Given the description of an element on the screen output the (x, y) to click on. 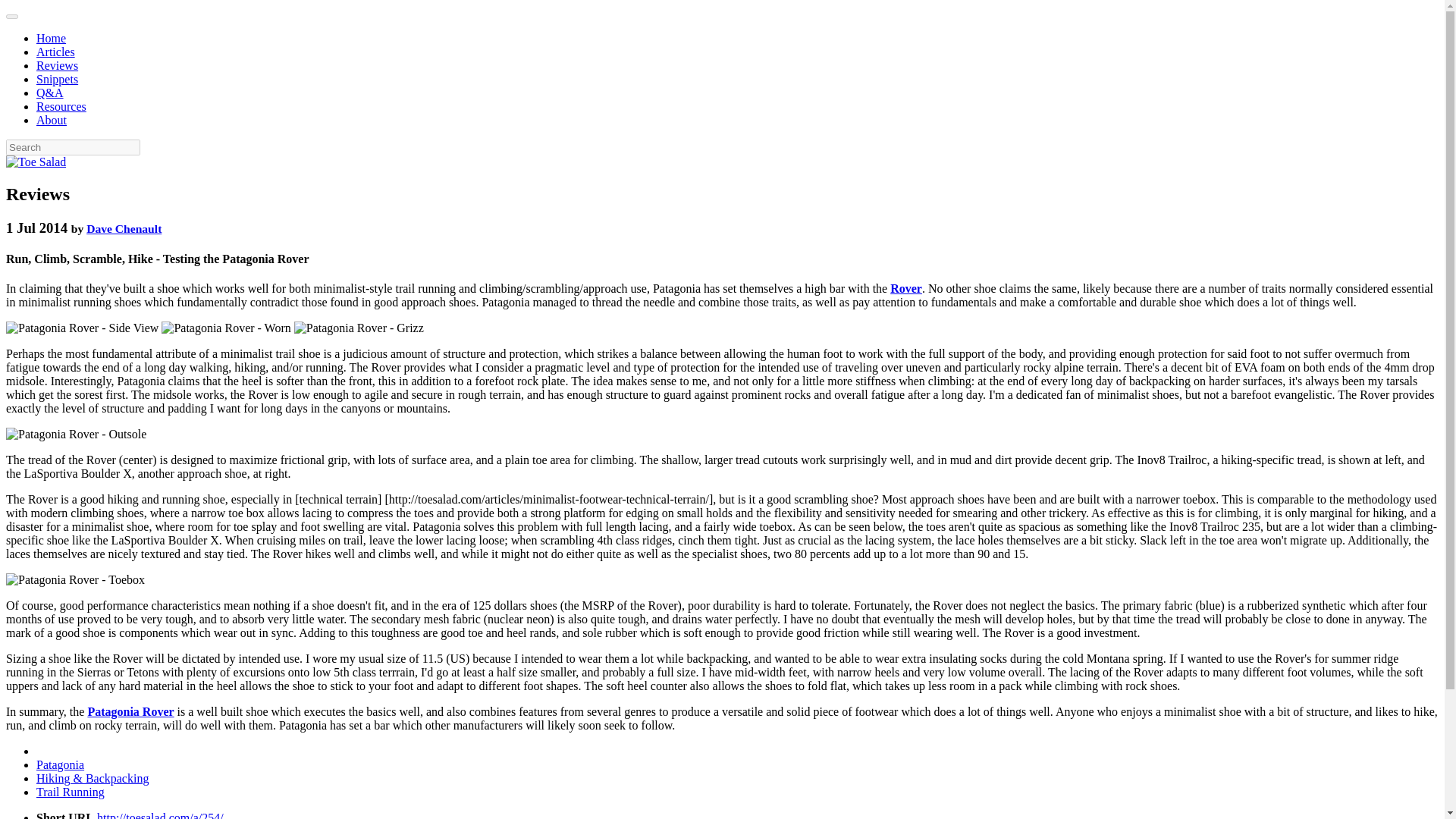
Rover (905, 287)
Patagonia Rover - Outsole (76, 434)
Home (50, 38)
Dave Chenault (123, 228)
Patagonia (60, 764)
Reviews (57, 65)
Patagonia Rover - Side View (81, 327)
Toe Salad (35, 161)
Patagonia Rover - Toebox (74, 580)
Snippets (57, 78)
Articles (55, 51)
Patagonia Rover (130, 711)
Patagonia Rover - Worn (225, 327)
Trail Running (70, 791)
Resources (60, 106)
